Given the description of an element on the screen output the (x, y) to click on. 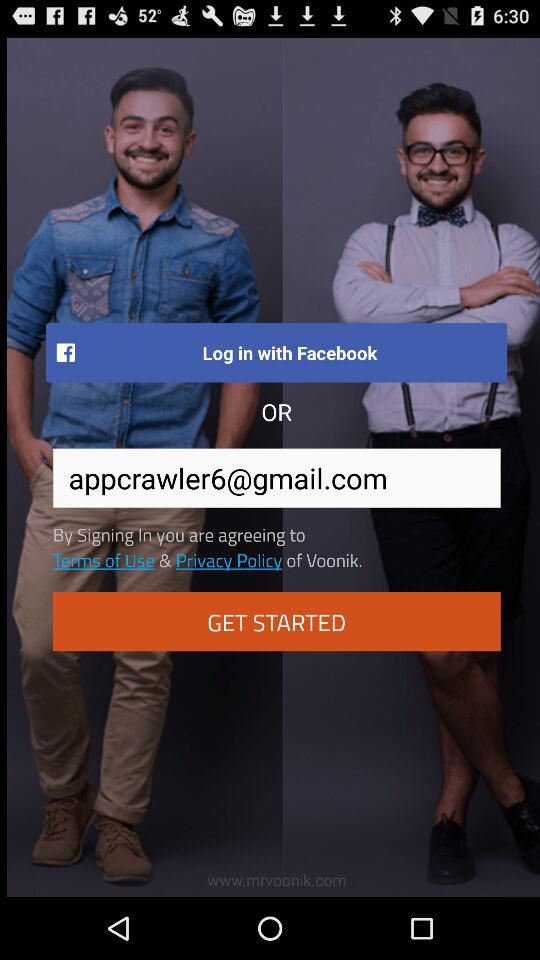
tap the item to the right of  & (228, 559)
